Given the description of an element on the screen output the (x, y) to click on. 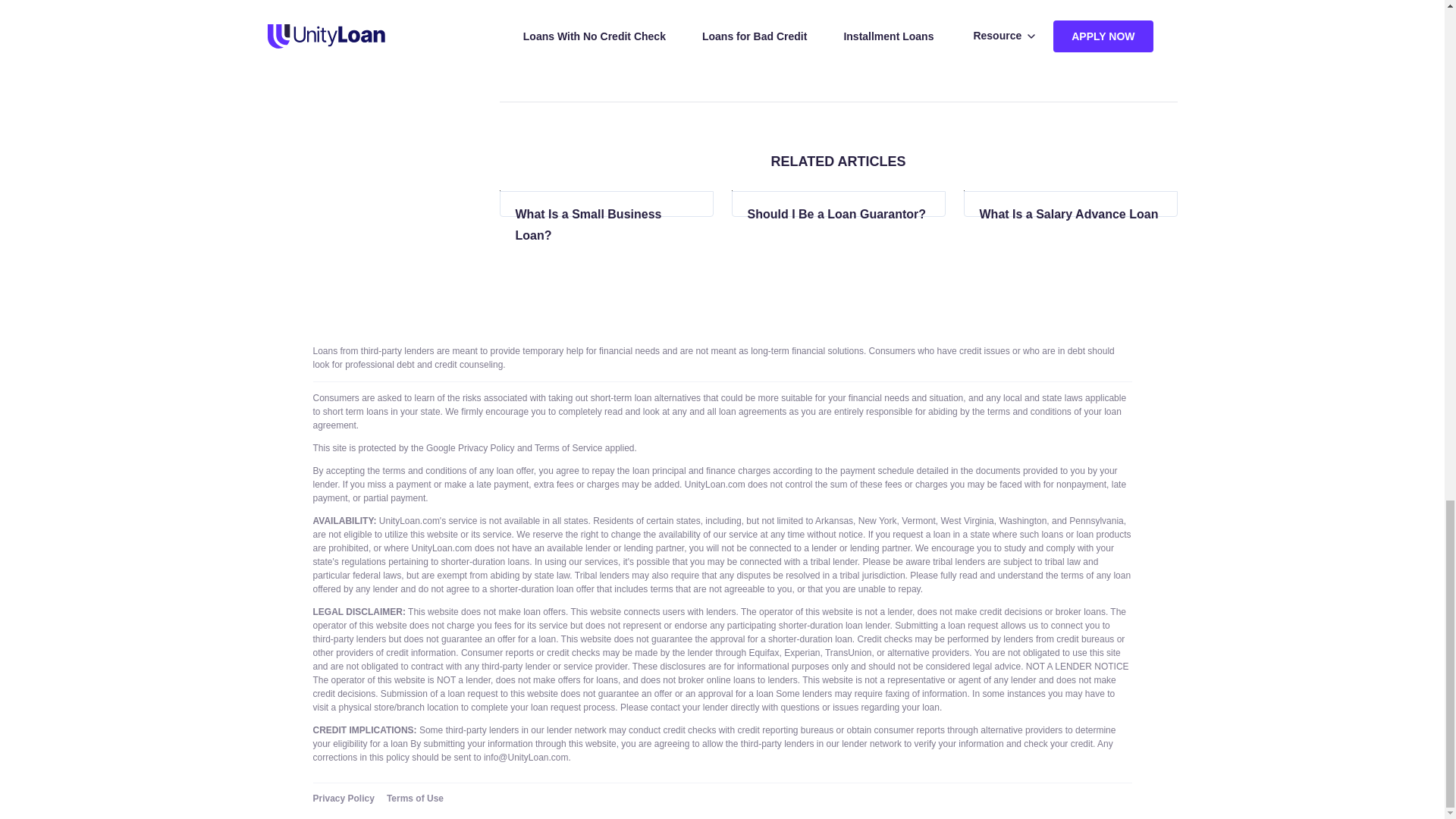
What Is a Small Business Loan? (606, 224)
Should I Be a Loan Guarantor? (839, 214)
Terms of Use (415, 798)
What Is a Salary Advance Loan (1070, 214)
Privacy Policy (349, 798)
